Given the description of an element on the screen output the (x, y) to click on. 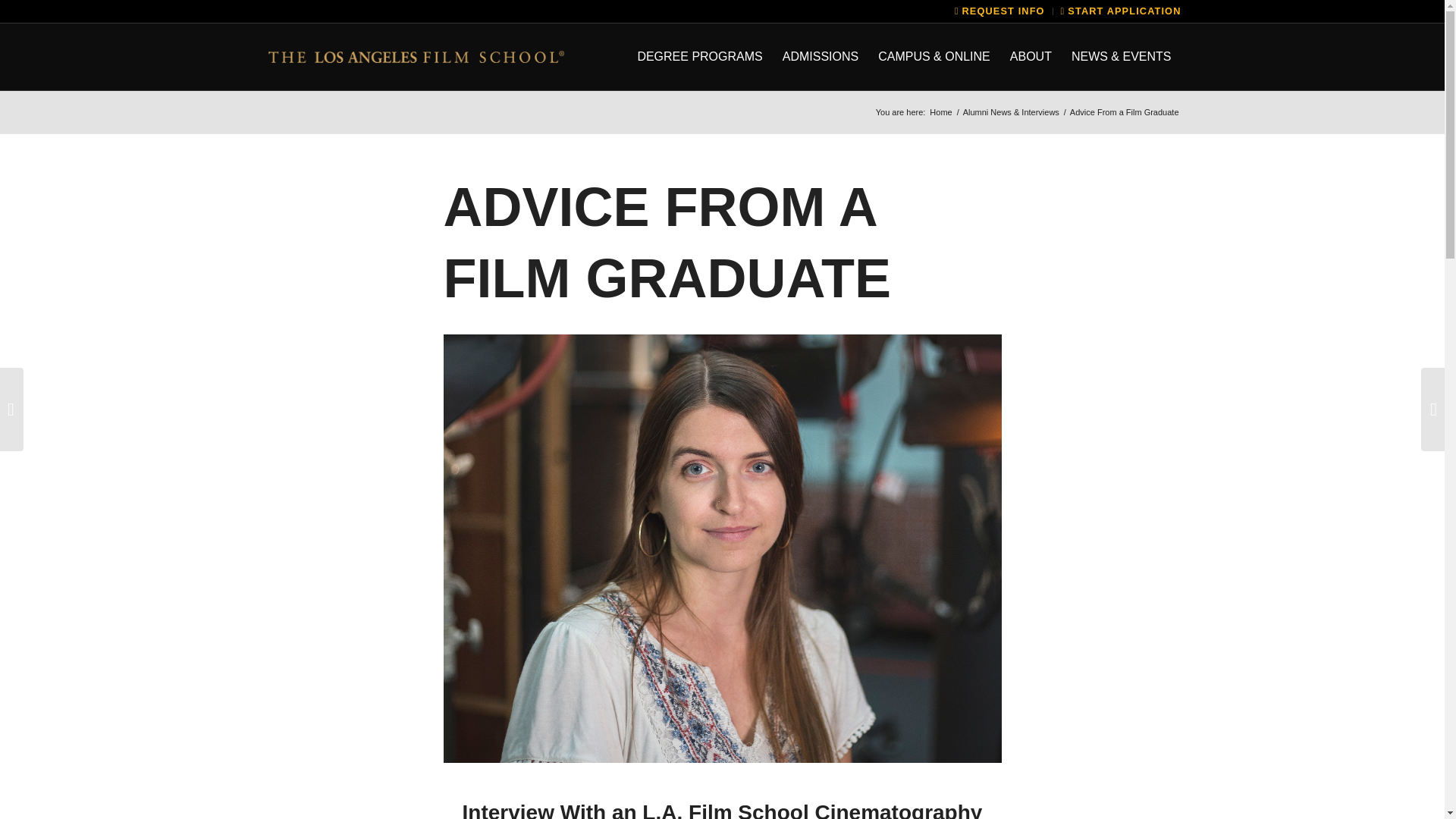
REQUEST INFO (1000, 11)
The Los Angeles Film School (940, 112)
START APPLICATION (1120, 11)
DEGREE PROGRAMS (699, 56)
lafilm-logo (413, 56)
